Given the description of an element on the screen output the (x, y) to click on. 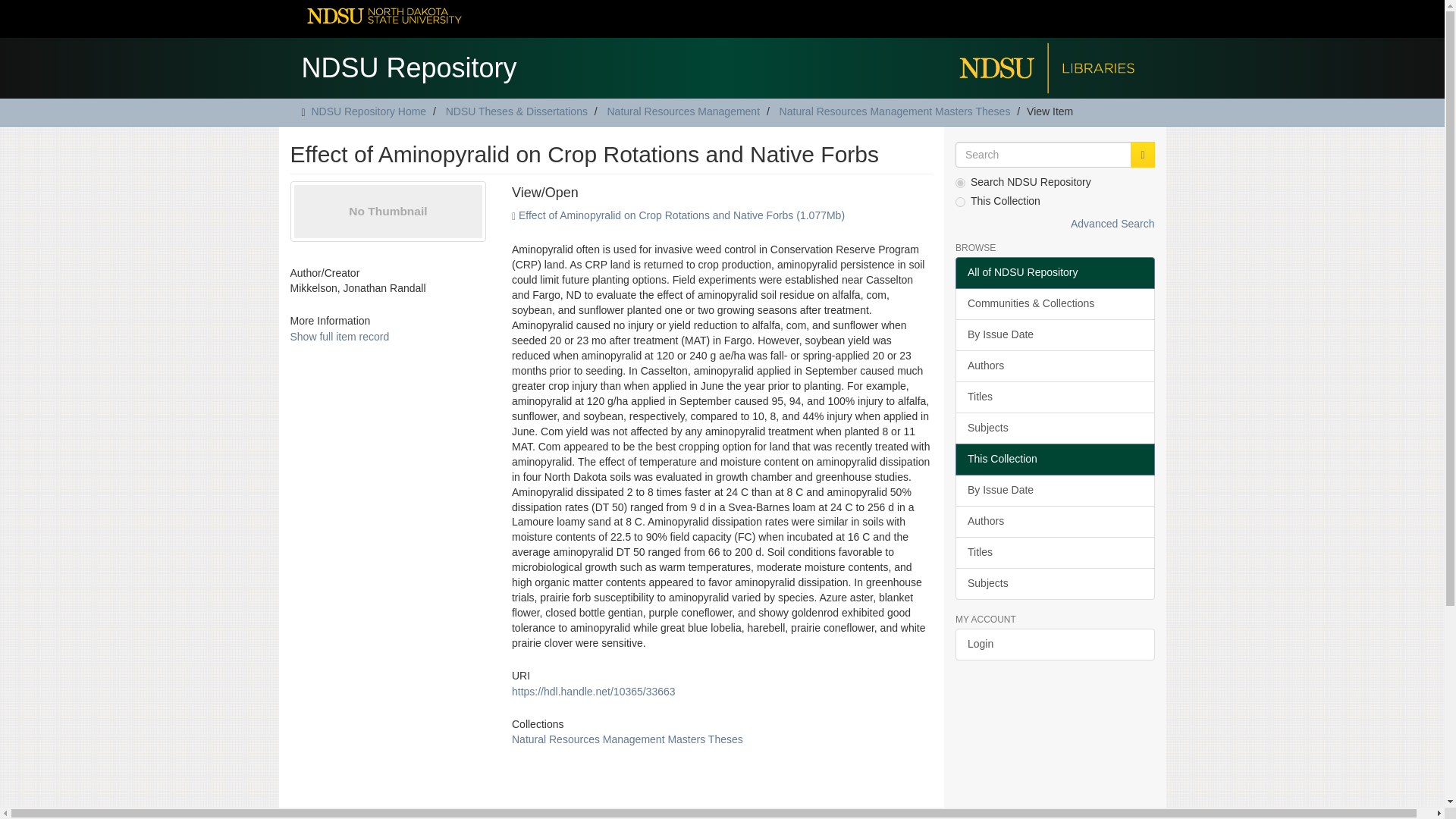
NDSU Repository Home (368, 111)
Natural Resources Management Masters Theses (627, 739)
NDSU Repository (408, 63)
Natural Resources Management Masters Theses (894, 111)
Natural Resources Management (683, 111)
Show full item record (338, 336)
